Given the description of an element on the screen output the (x, y) to click on. 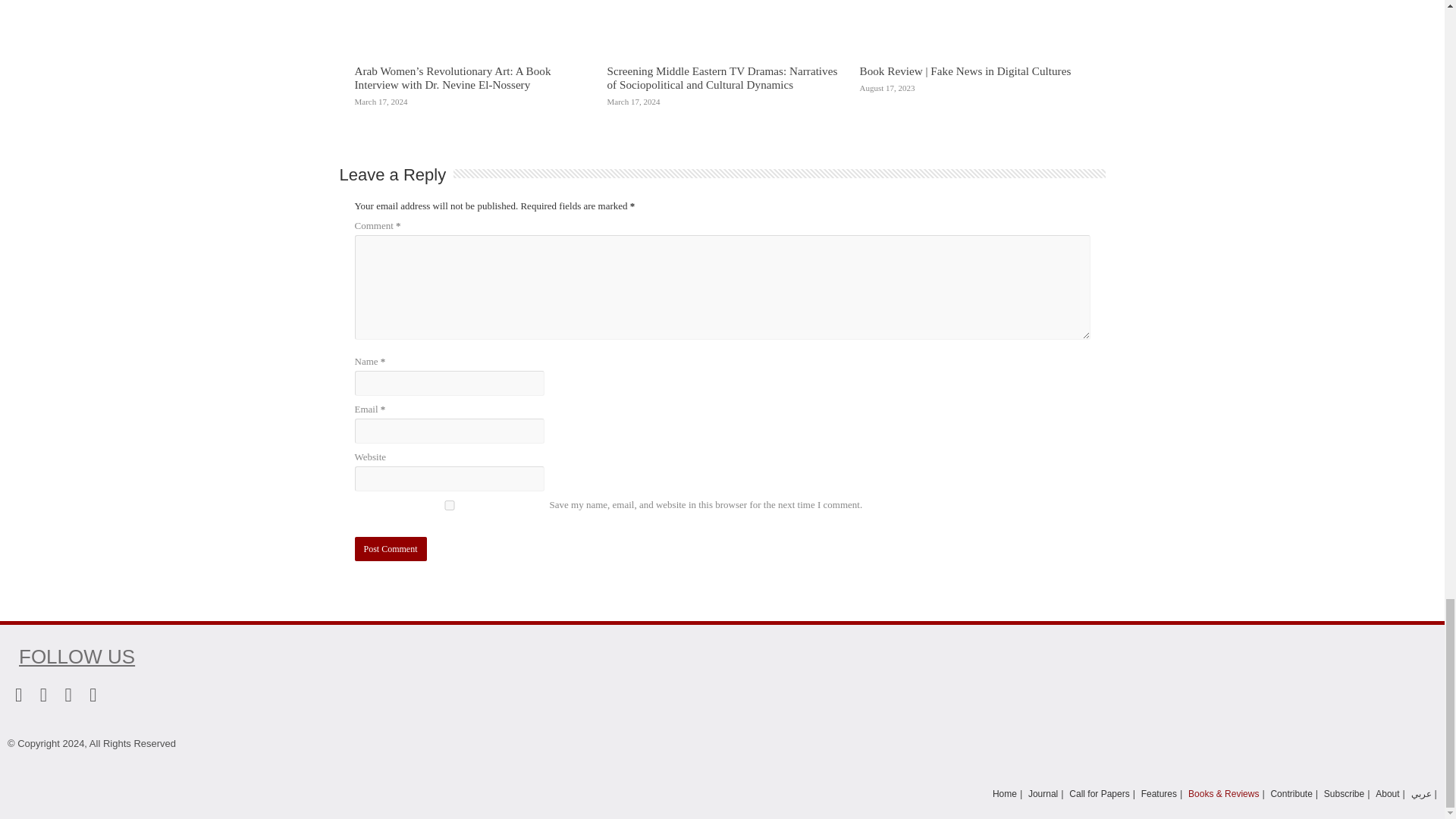
yes (449, 505)
Post Comment (390, 549)
